Given the description of an element on the screen output the (x, y) to click on. 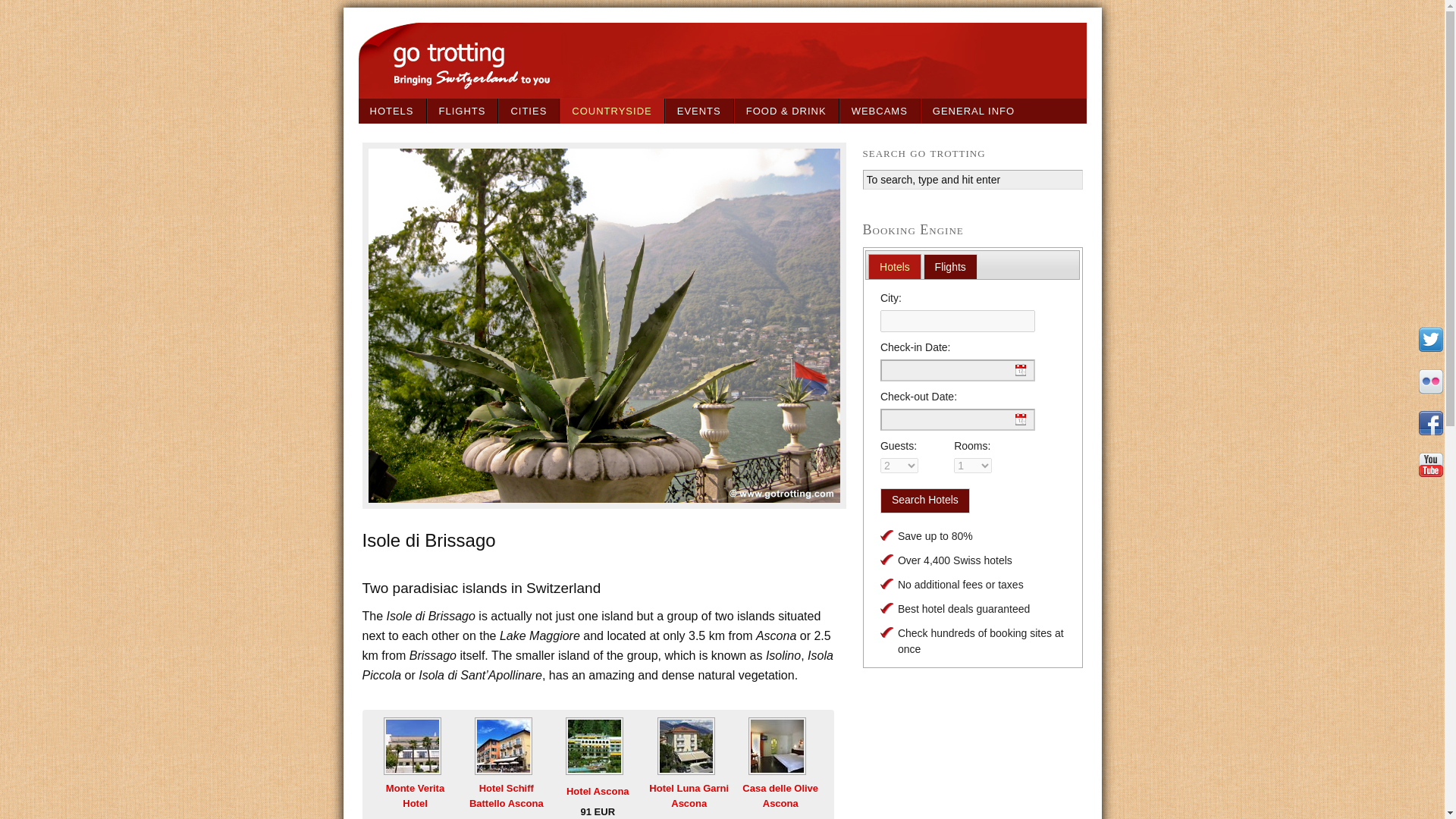
To search, type and hit enter (973, 179)
HOTELS (392, 110)
CITIES (529, 110)
FLIGHTS (463, 110)
